Given the description of an element on the screen output the (x, y) to click on. 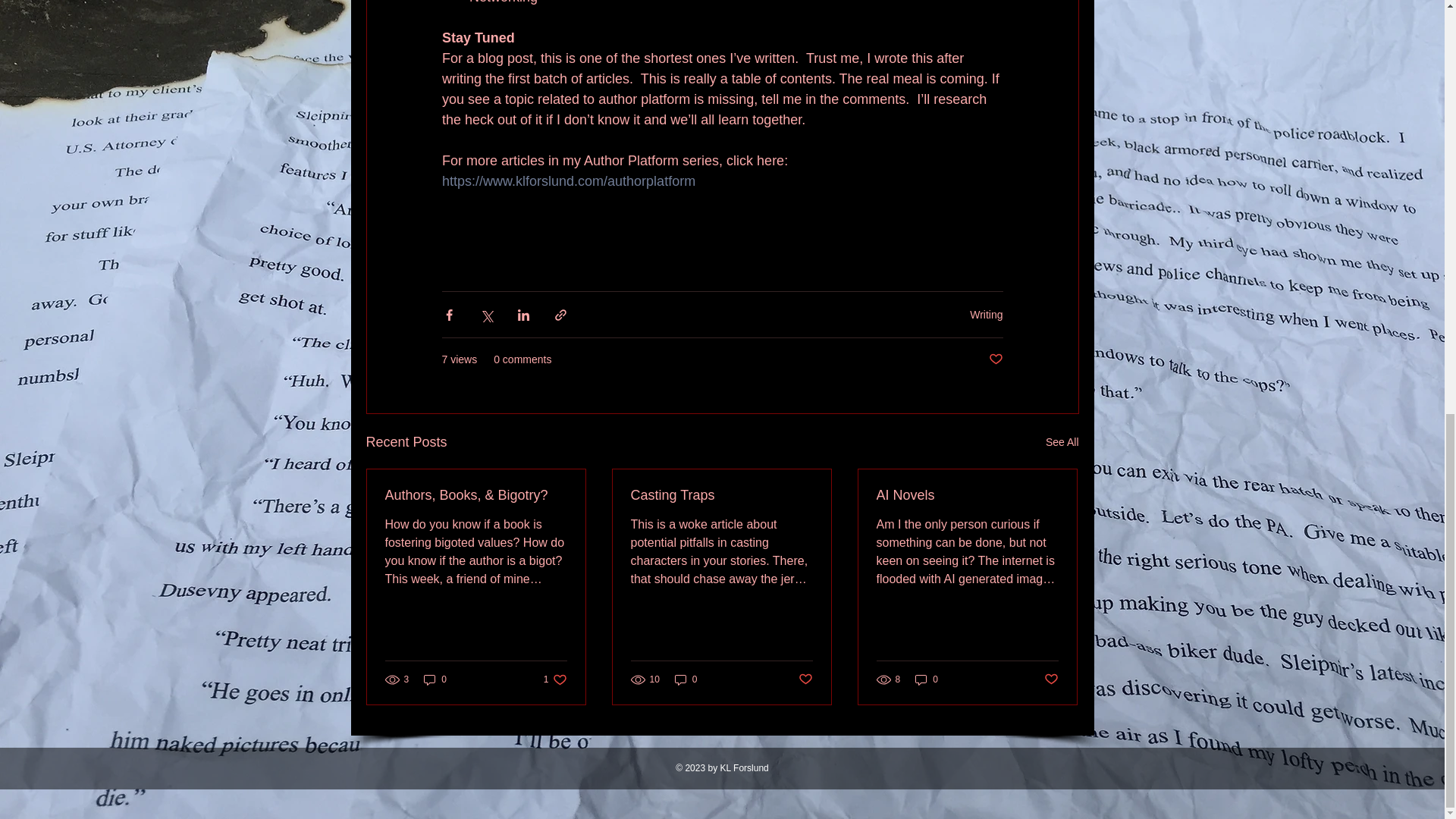
Writing (986, 314)
Post not marked as liked (995, 359)
See All (1061, 442)
0 (435, 679)
